Given the description of an element on the screen output the (x, y) to click on. 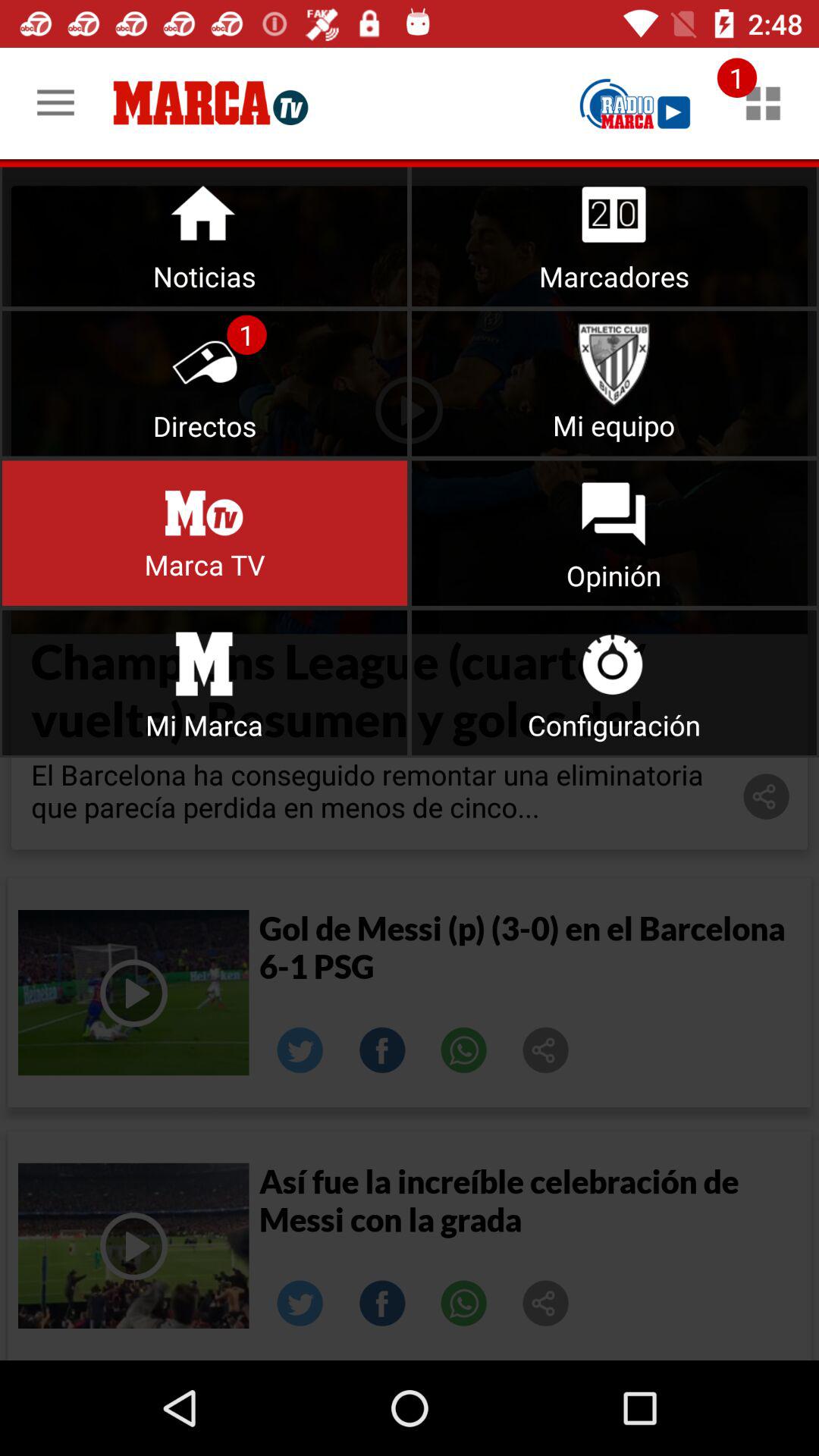
go to noticias (204, 233)
